Given the description of an element on the screen output the (x, y) to click on. 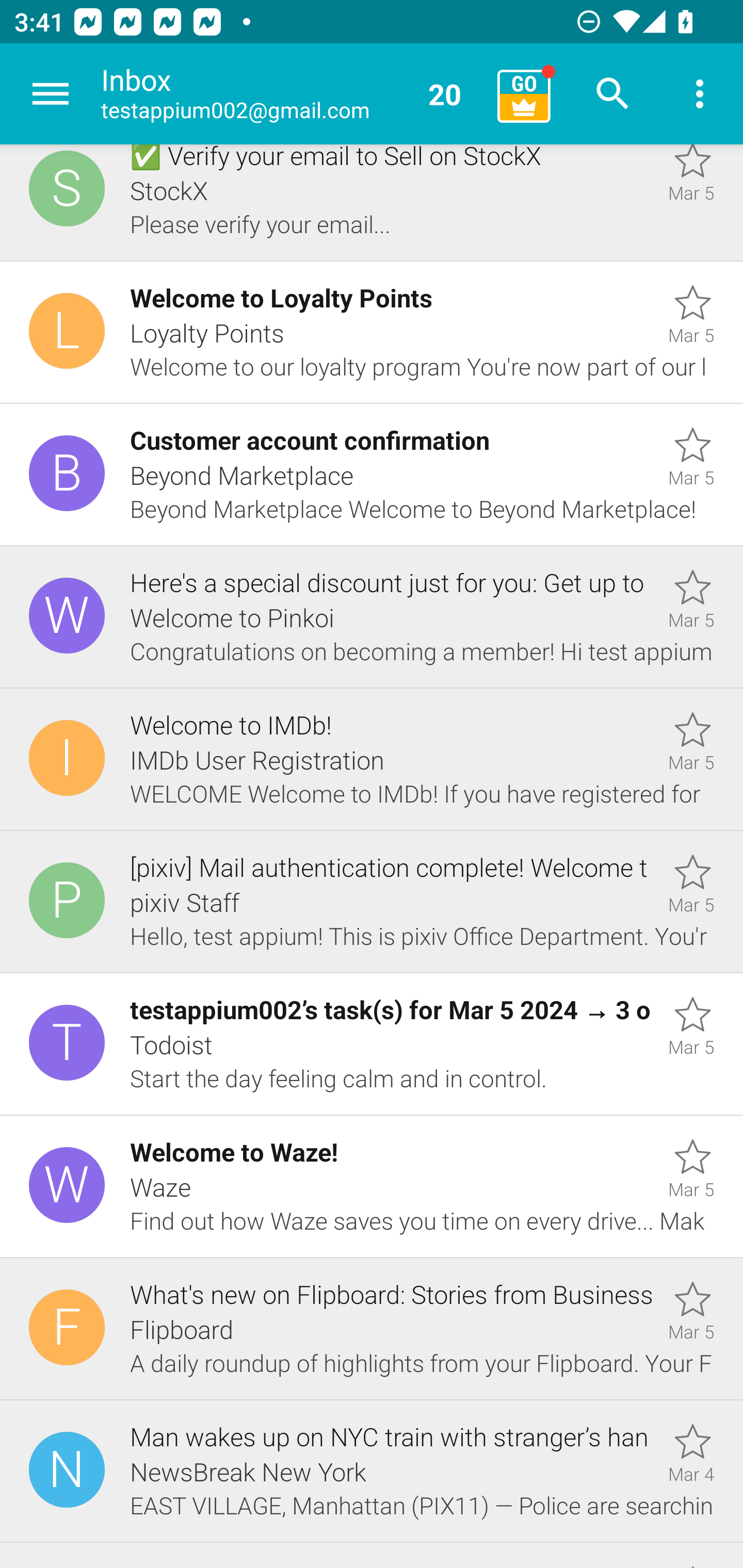
Navigate up (50, 93)
Inbox testappium002@gmail.com 20 (291, 93)
Search (612, 93)
More options (699, 93)
